Given the description of an element on the screen output the (x, y) to click on. 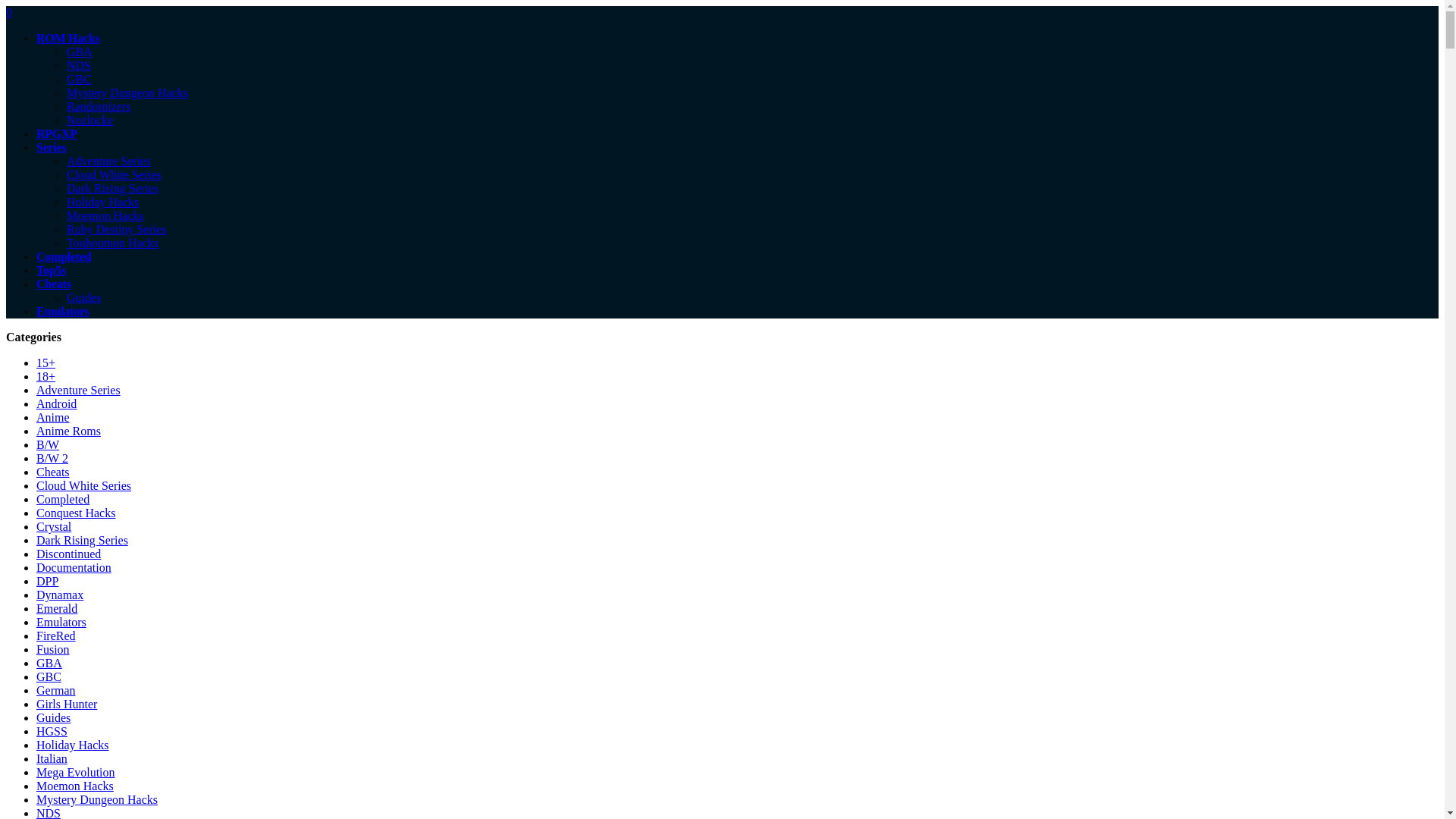
Cheats (53, 283)
NDS (78, 65)
Bookmarks (8, 11)
Anime Roms (68, 431)
GBA (79, 51)
Series (50, 146)
Holiday Hacks (102, 201)
Android (56, 403)
GBC (78, 78)
Cheats (52, 472)
ROM Hacks (68, 38)
Randomizers (98, 106)
Cloud White Series (83, 485)
Dark Rising Series (112, 187)
Moemon Hacks (105, 215)
